Given the description of an element on the screen output the (x, y) to click on. 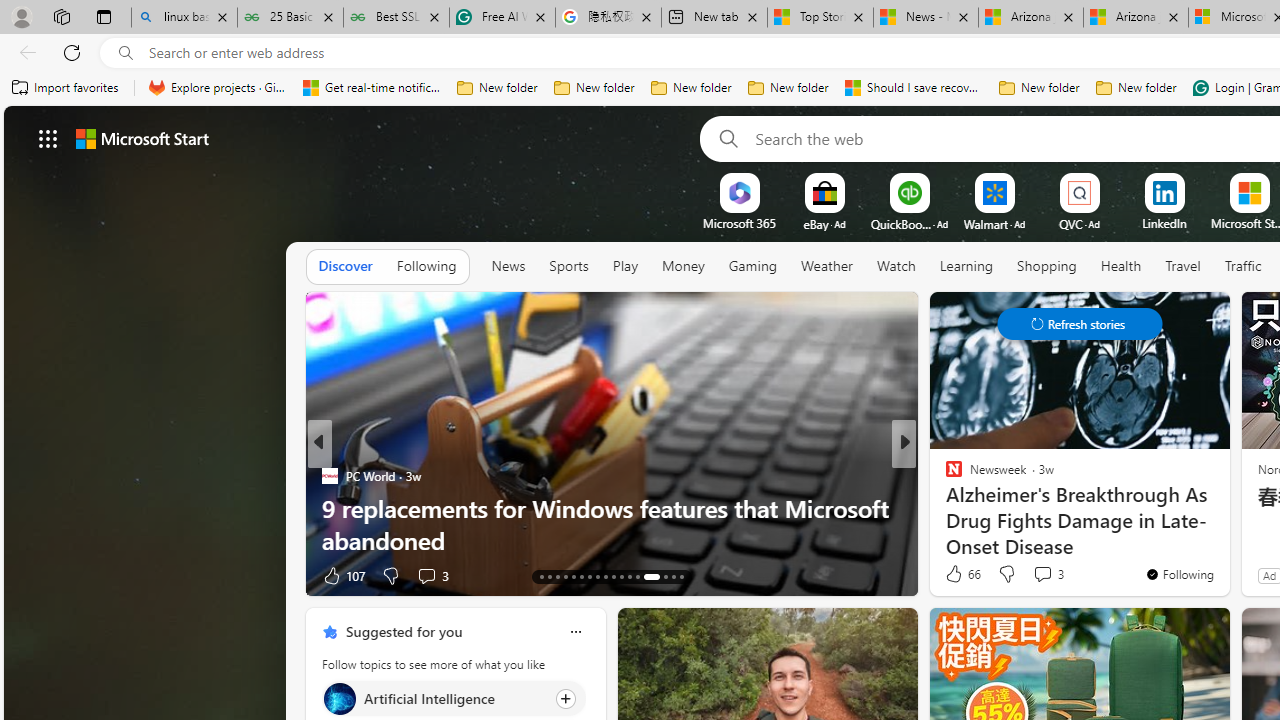
News - MSN (925, 17)
Health (1121, 265)
Sports (568, 265)
AutomationID: tab-14 (549, 576)
Gaming (752, 267)
Money (682, 267)
View comments 3 Comment (1042, 573)
66 Like (961, 574)
Sports (569, 267)
LinkedIn (1163, 223)
AutomationID: tab-17 (573, 576)
